Given the description of an element on the screen output the (x, y) to click on. 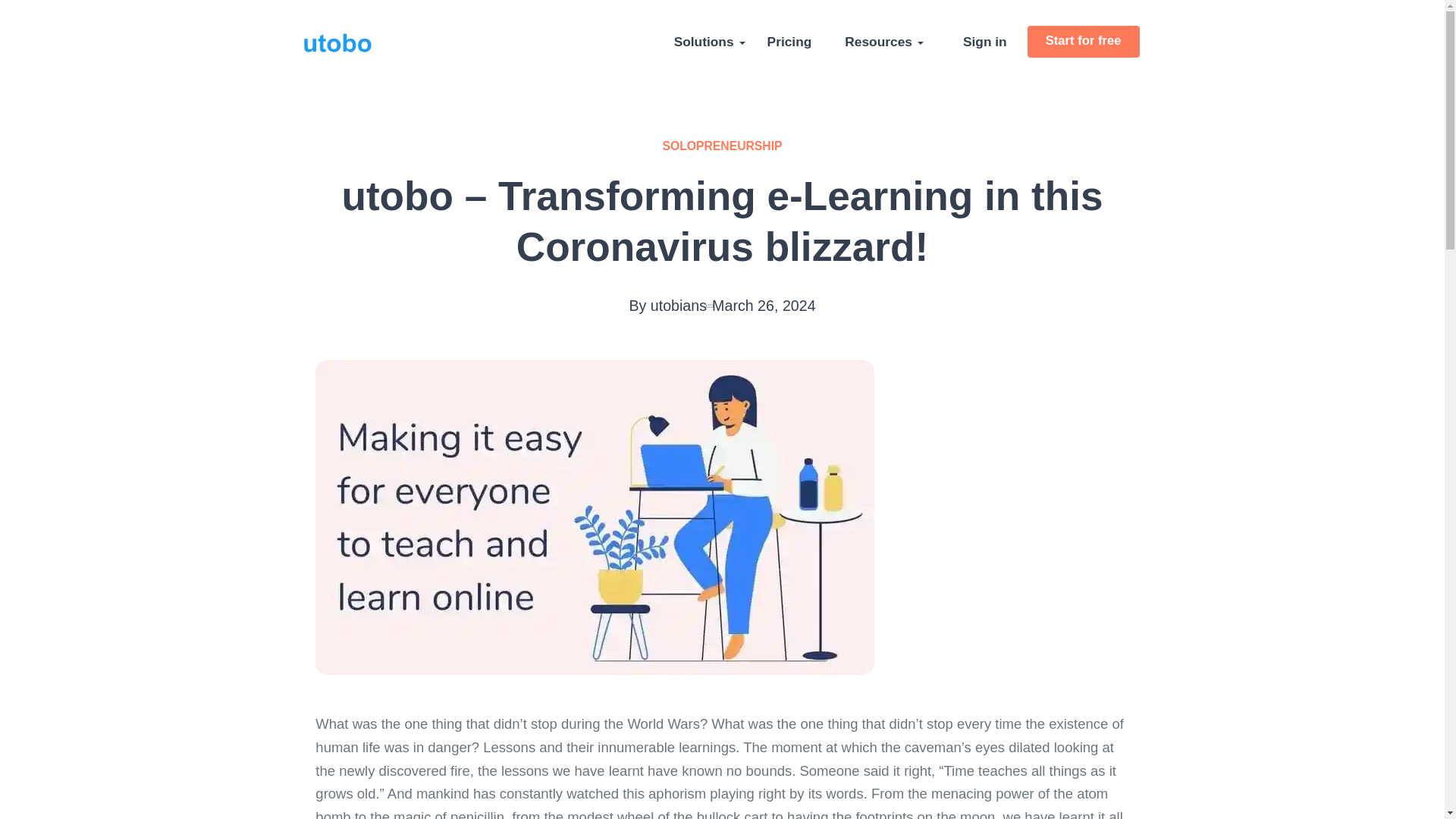
Pricing (789, 41)
Solutions (703, 41)
Sign in (984, 41)
Start for free (1083, 41)
Resources (877, 41)
